Given the description of an element on the screen output the (x, y) to click on. 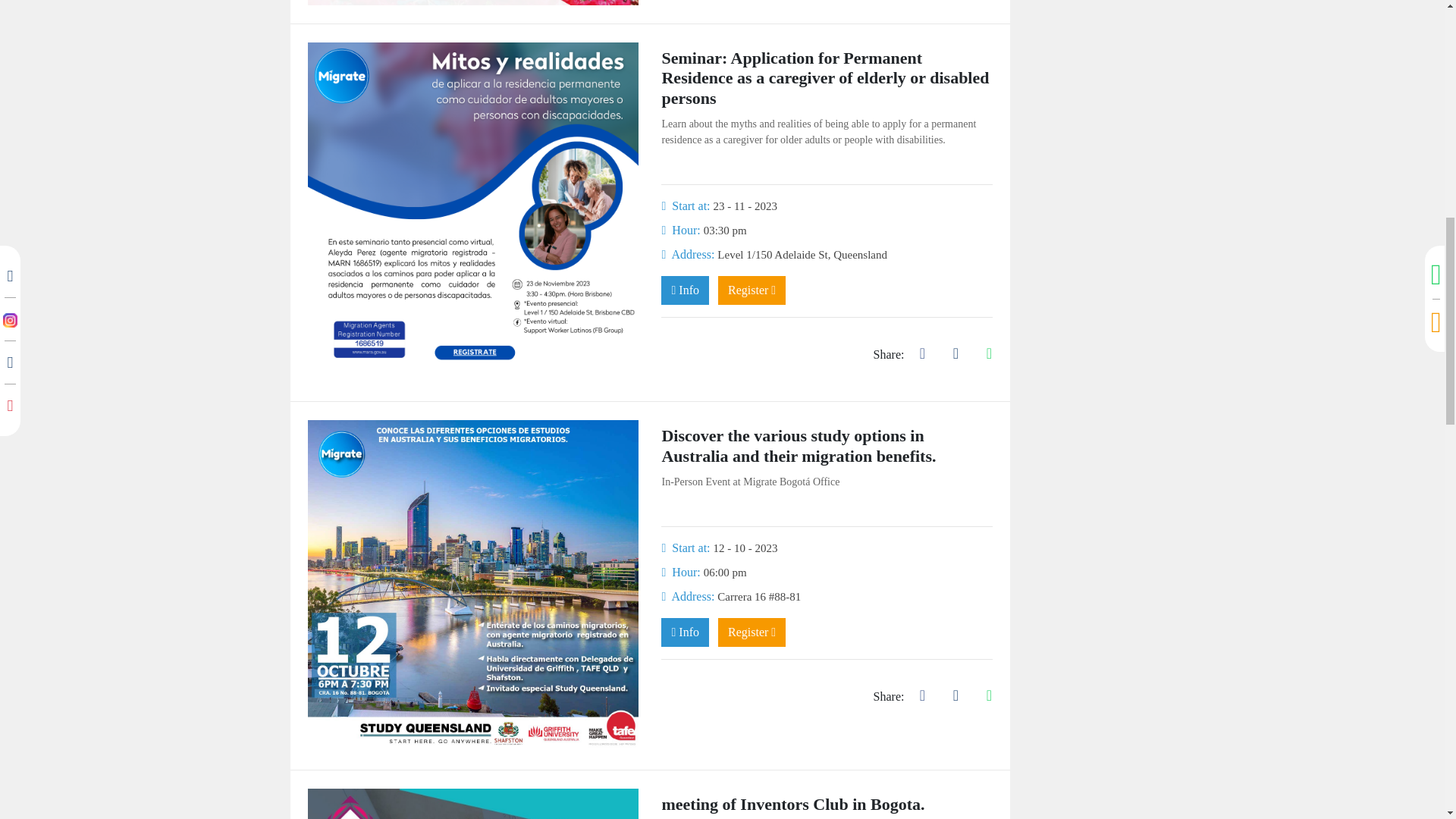
Register (751, 632)
Info (685, 632)
Register (751, 290)
Info (685, 290)
